Given the description of an element on the screen output the (x, y) to click on. 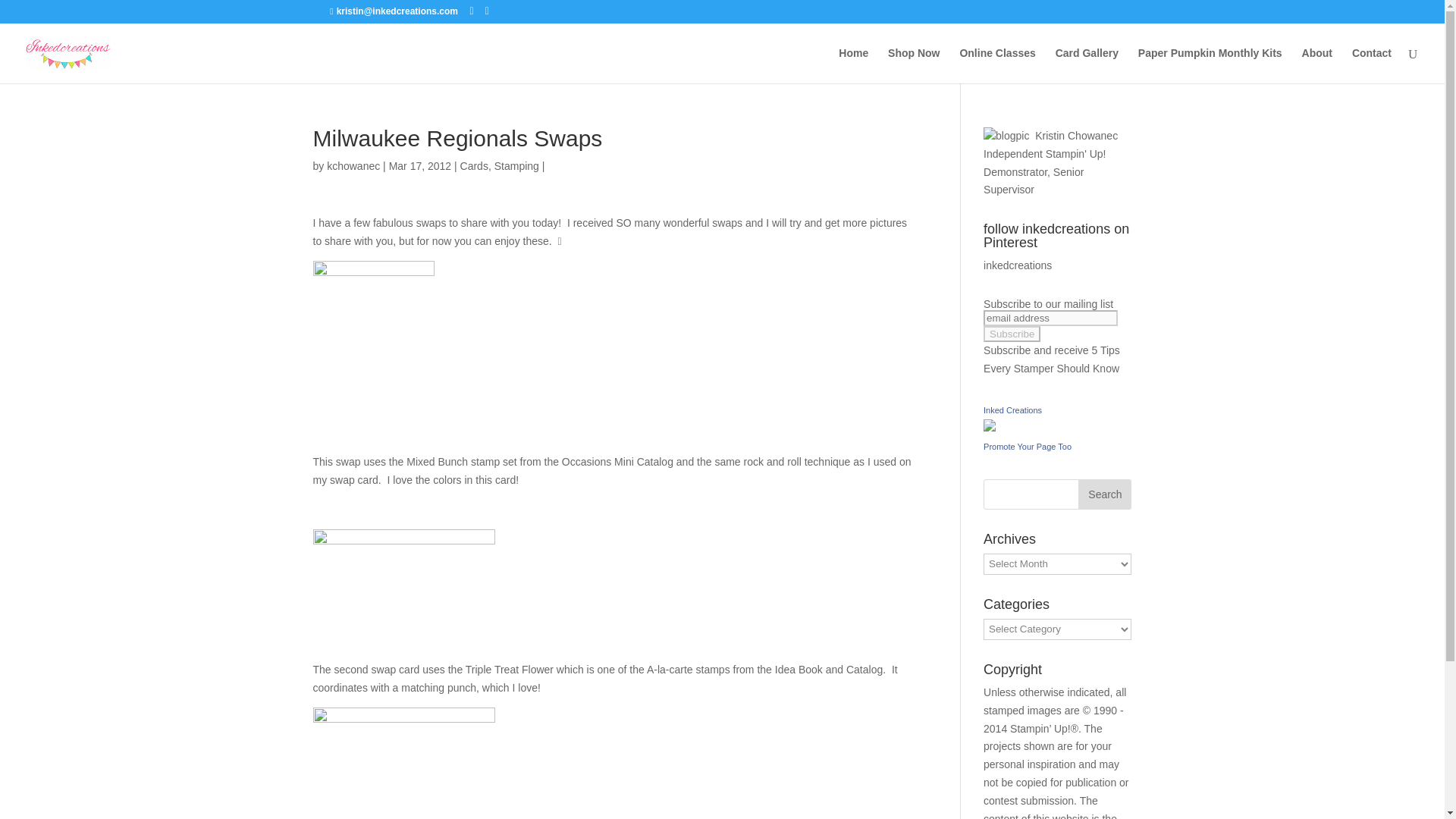
Subscribe (1012, 333)
Contact (1371, 65)
kchowanec (353, 165)
Cards (473, 165)
Promote Your Page Too (1027, 446)
Shop Now (913, 65)
Inked Creations (1013, 409)
Inked Creations (1013, 409)
Search (1104, 494)
Stamping (516, 165)
